Given the description of an element on the screen output the (x, y) to click on. 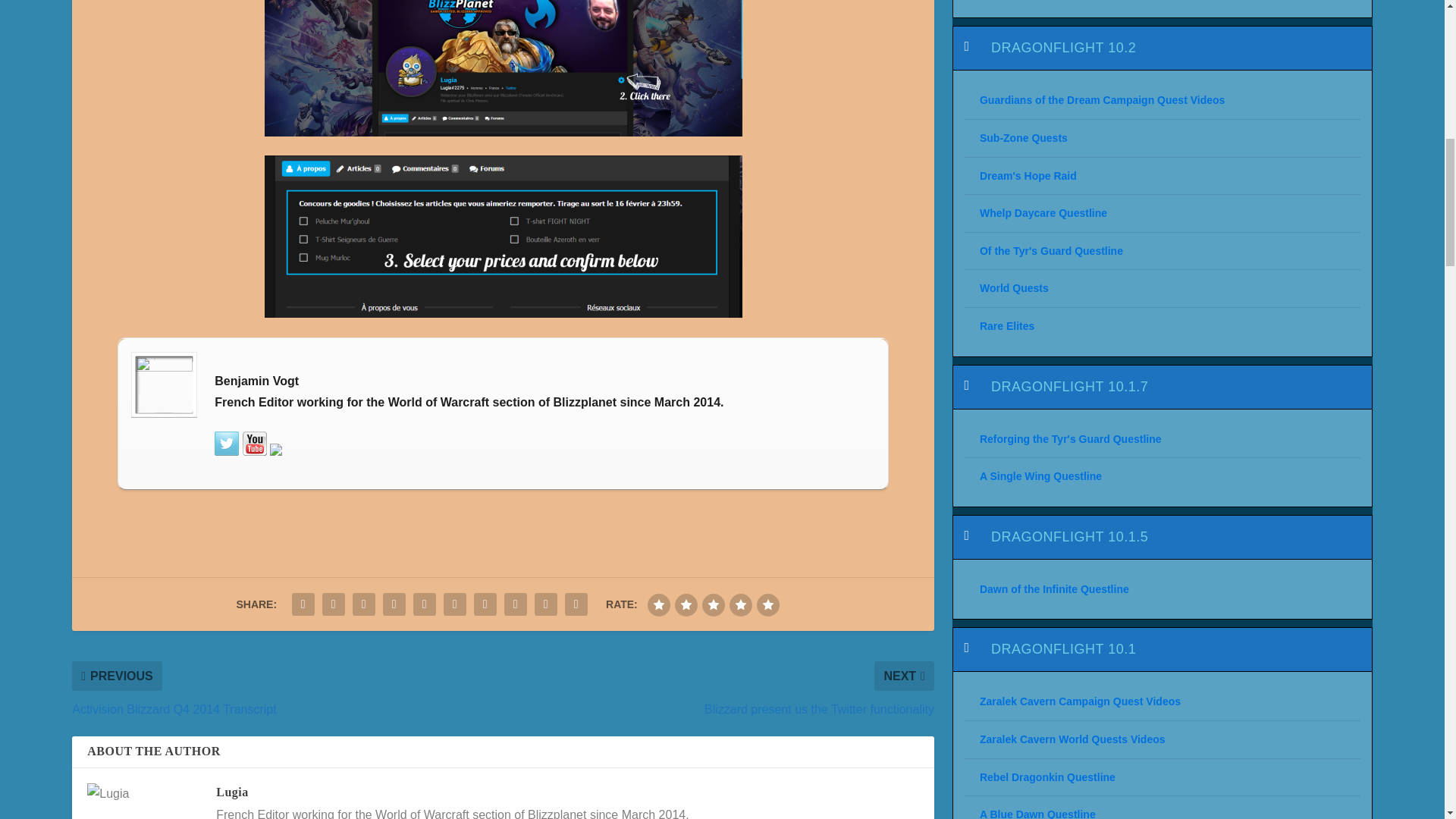
Share "Earn some goodies with Blizzheart" via Facebook (303, 603)
Share "Earn some goodies with Blizzheart" via Twitter (333, 603)
Share "Earn some goodies with Blizzheart" via Email (545, 603)
Share "Earn some goodies with Blizzheart" via Tumblr (393, 603)
YouTube (254, 443)
Share "Earn some goodies with Blizzheart" via LinkedIn (454, 603)
Share "Earn some goodies with Blizzheart" via Pinterest (424, 603)
Share "Earn some goodies with Blizzheart" via Stumbleupon (515, 603)
Share "Earn some goodies with Blizzheart" via Buffer (485, 603)
Share "Earn some goodies with Blizzheart" via Print (575, 603)
Twitter (226, 443)
